Given the description of an element on the screen output the (x, y) to click on. 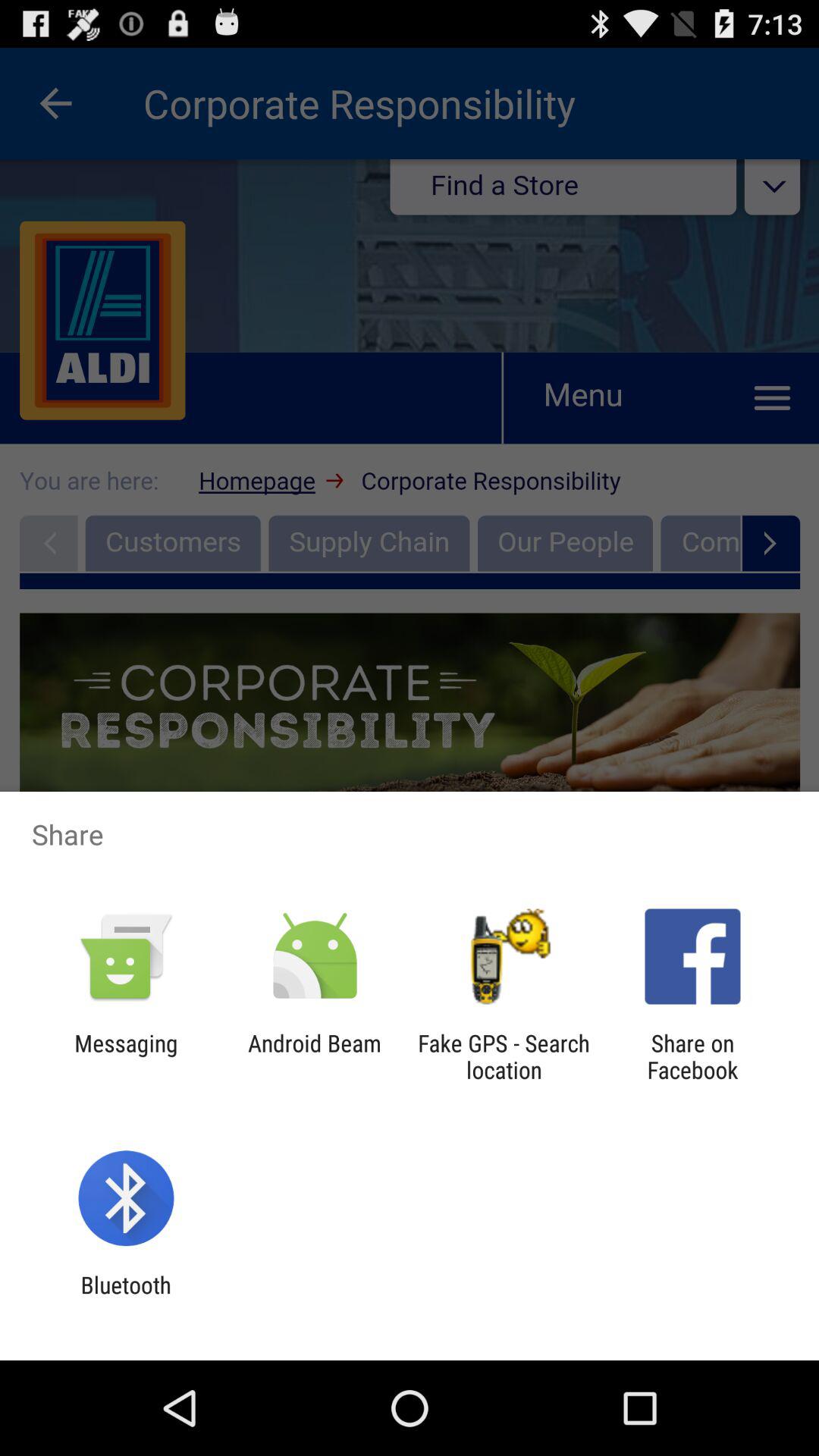
launch the app next to android beam icon (126, 1056)
